Given the description of an element on the screen output the (x, y) to click on. 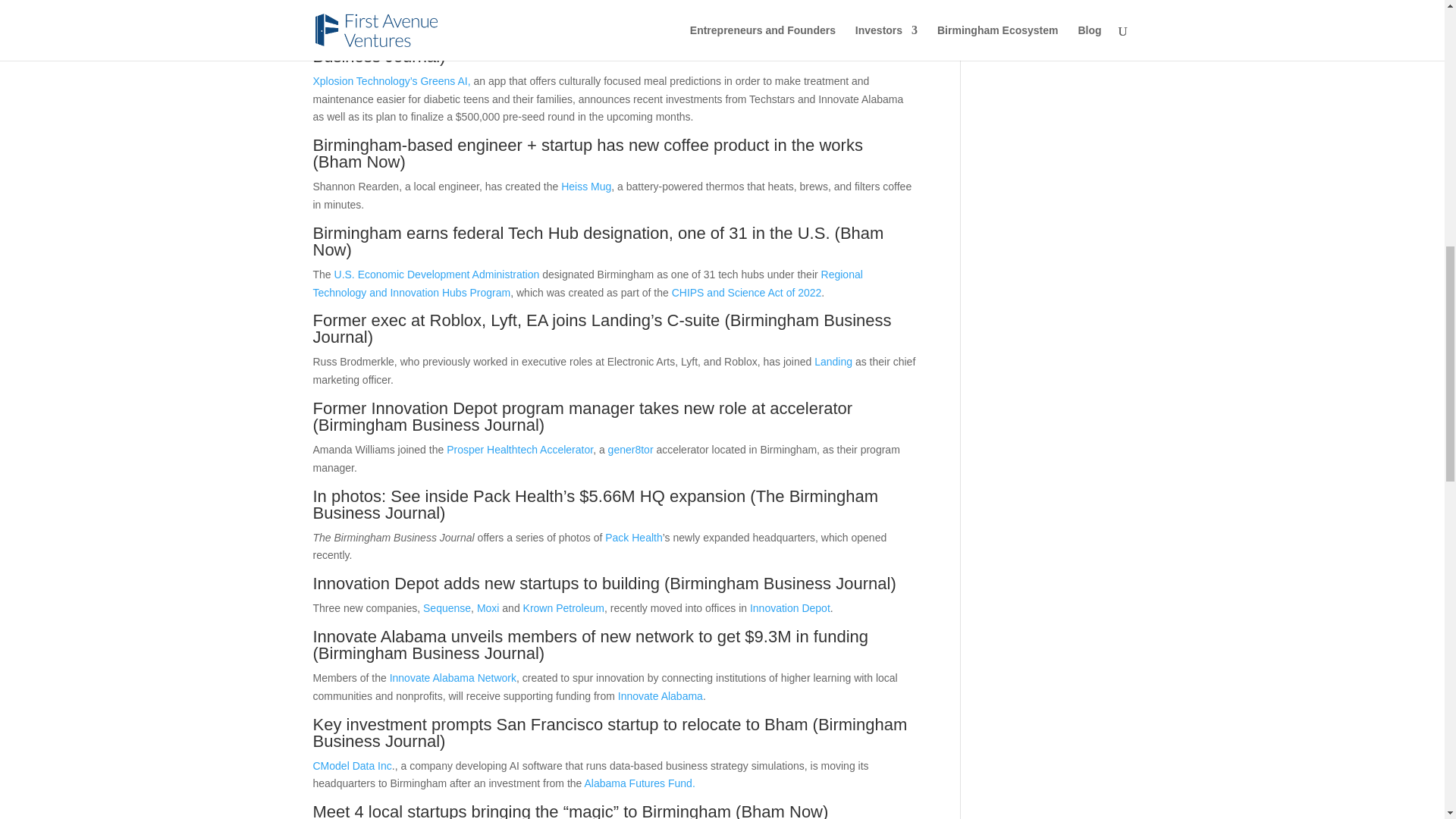
Heiss Mug (585, 186)
Regional Technology and Innovation Hubs Program (587, 283)
Landing (832, 361)
U.S. Economic Development Administration (437, 274)
CHIPS and Science Act of 2022 (746, 292)
